Given the description of an element on the screen output the (x, y) to click on. 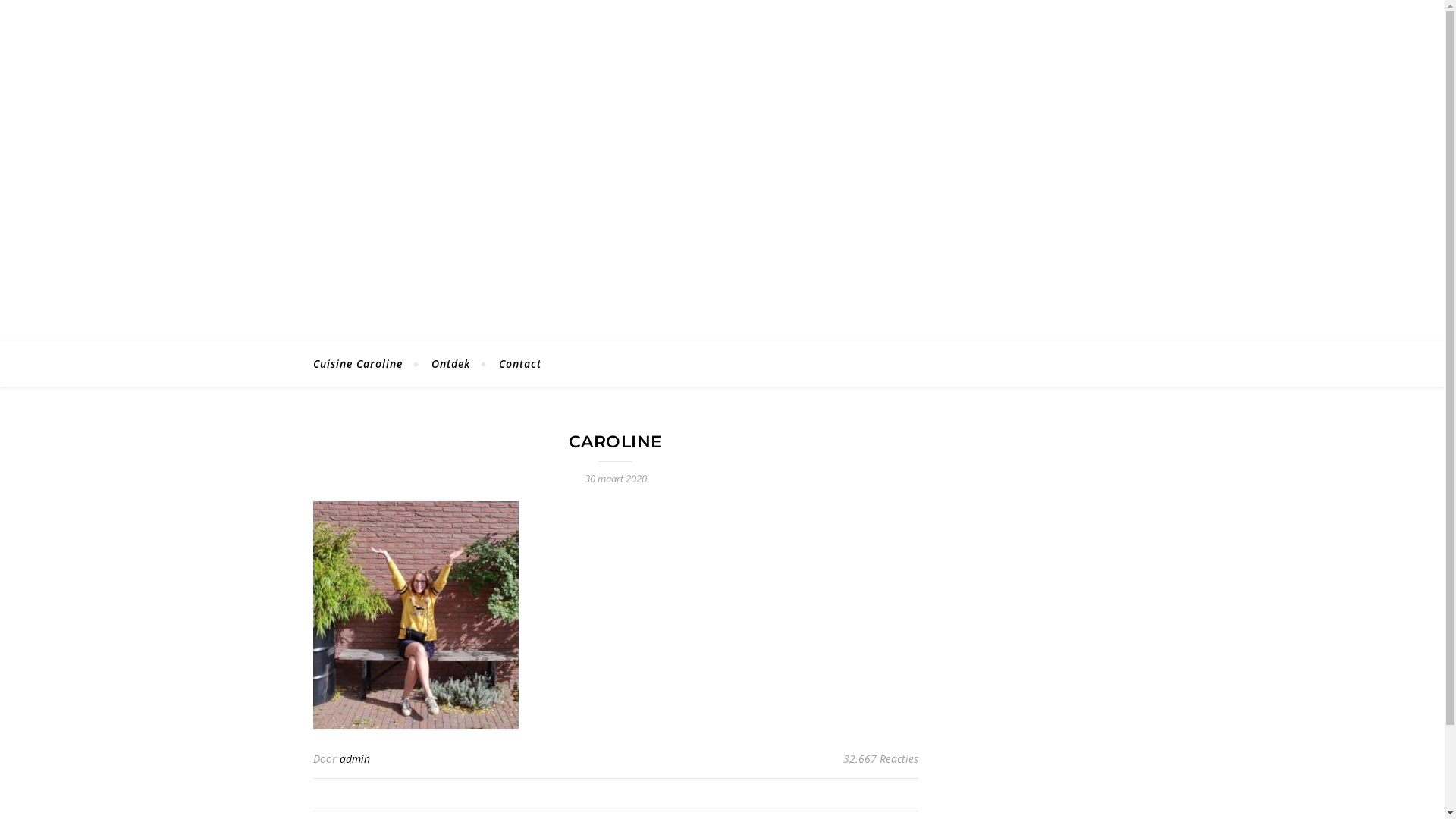
Cuisine Caroline Element type: text (363, 363)
admin Element type: text (354, 758)
32.667 Reacties Element type: text (880, 758)
Cuisine Caroline Element type: text (722, 140)
Ontdek Element type: text (450, 363)
Contact Element type: text (512, 363)
